Given the description of an element on the screen output the (x, y) to click on. 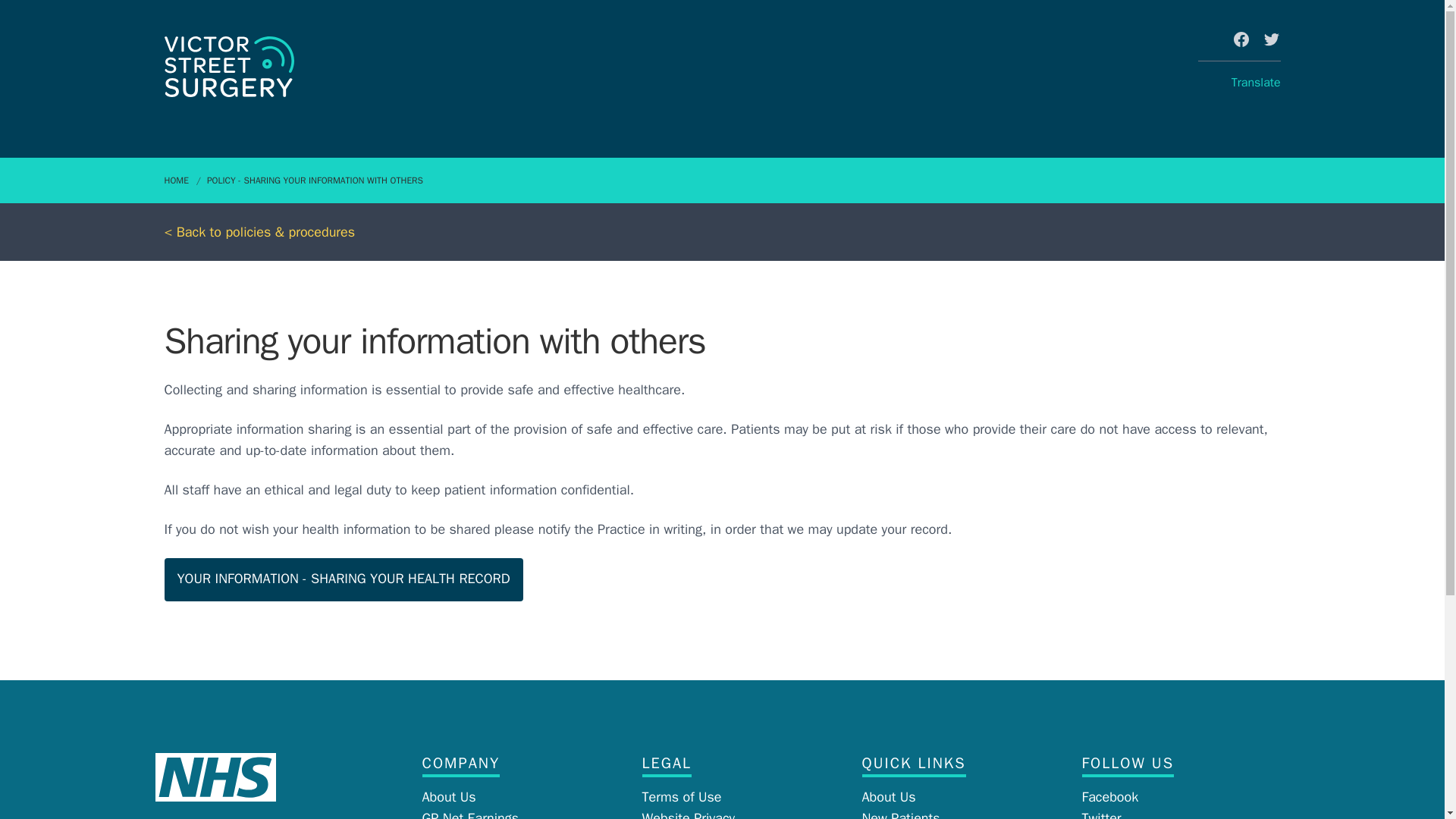
About Us (449, 796)
Terms of Use (681, 796)
Twitter (1270, 39)
About Us (888, 796)
New Patients (900, 814)
Website Privacy (688, 814)
GP Net Earnings (470, 814)
YOUR INFORMATION - SHARING YOUR HEALTH RECORD (342, 579)
Facebook (1240, 39)
Twitter (1101, 814)
Facebook (1109, 796)
HOME (181, 179)
